Given the description of an element on the screen output the (x, y) to click on. 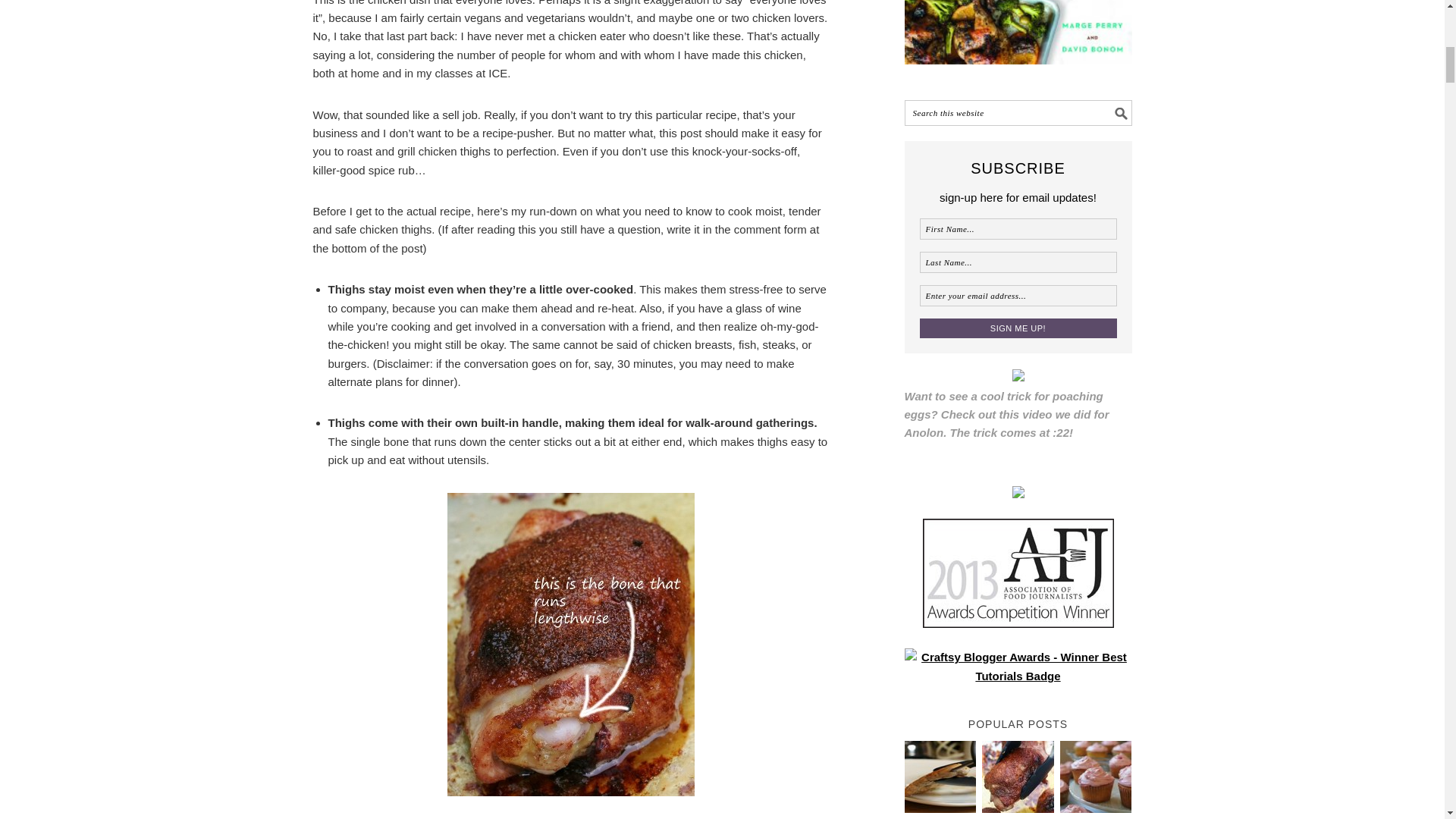
Strawberry Frosted Cupcakes (1095, 808)
Sign me up! (1017, 328)
me (1017, 573)
